Given the description of an element on the screen output the (x, y) to click on. 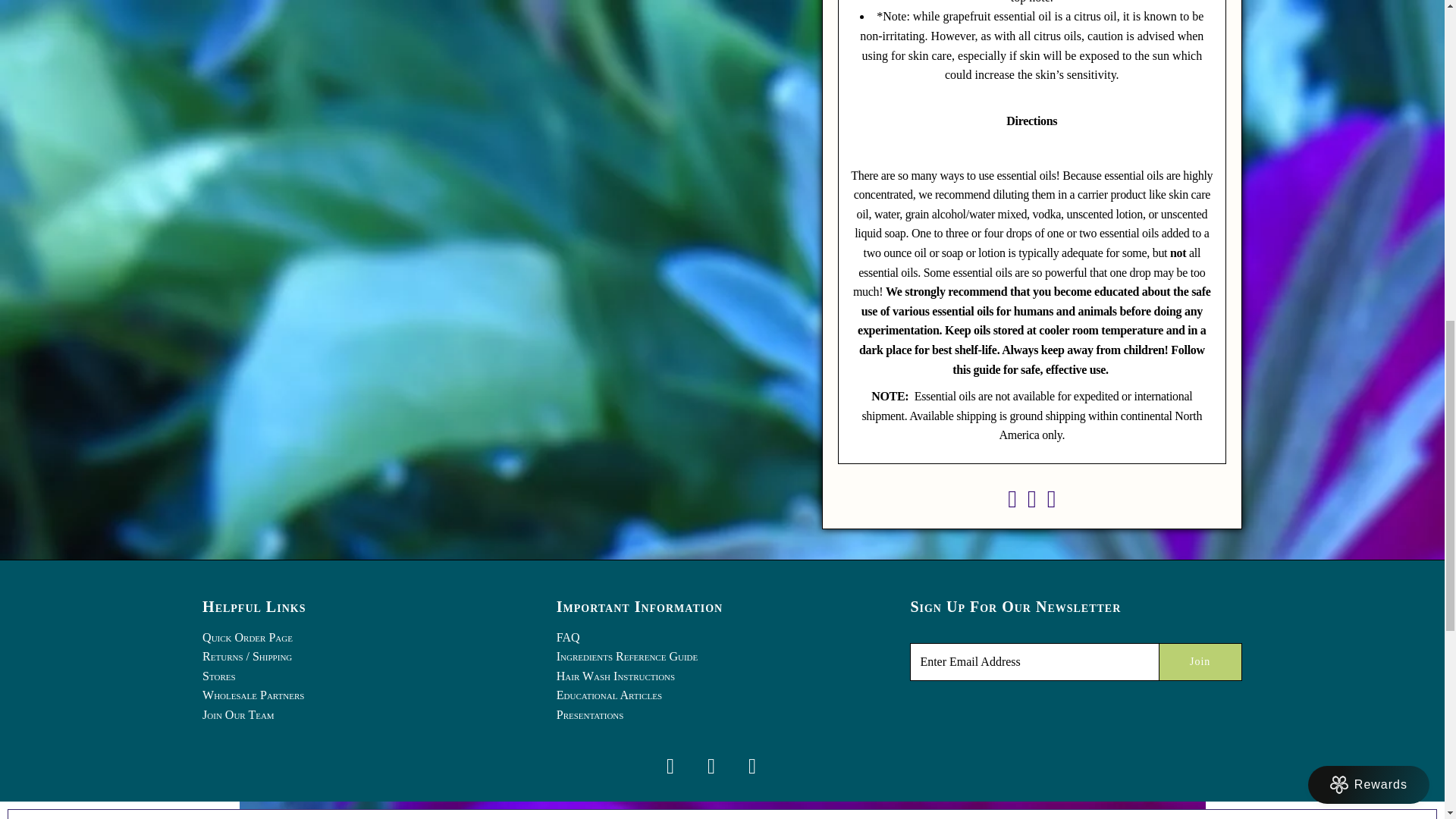
Share on Twitter (1031, 502)
Share on Pinterest (1051, 502)
Join (1199, 661)
Share on Facebook (1011, 502)
